Given the description of an element on the screen output the (x, y) to click on. 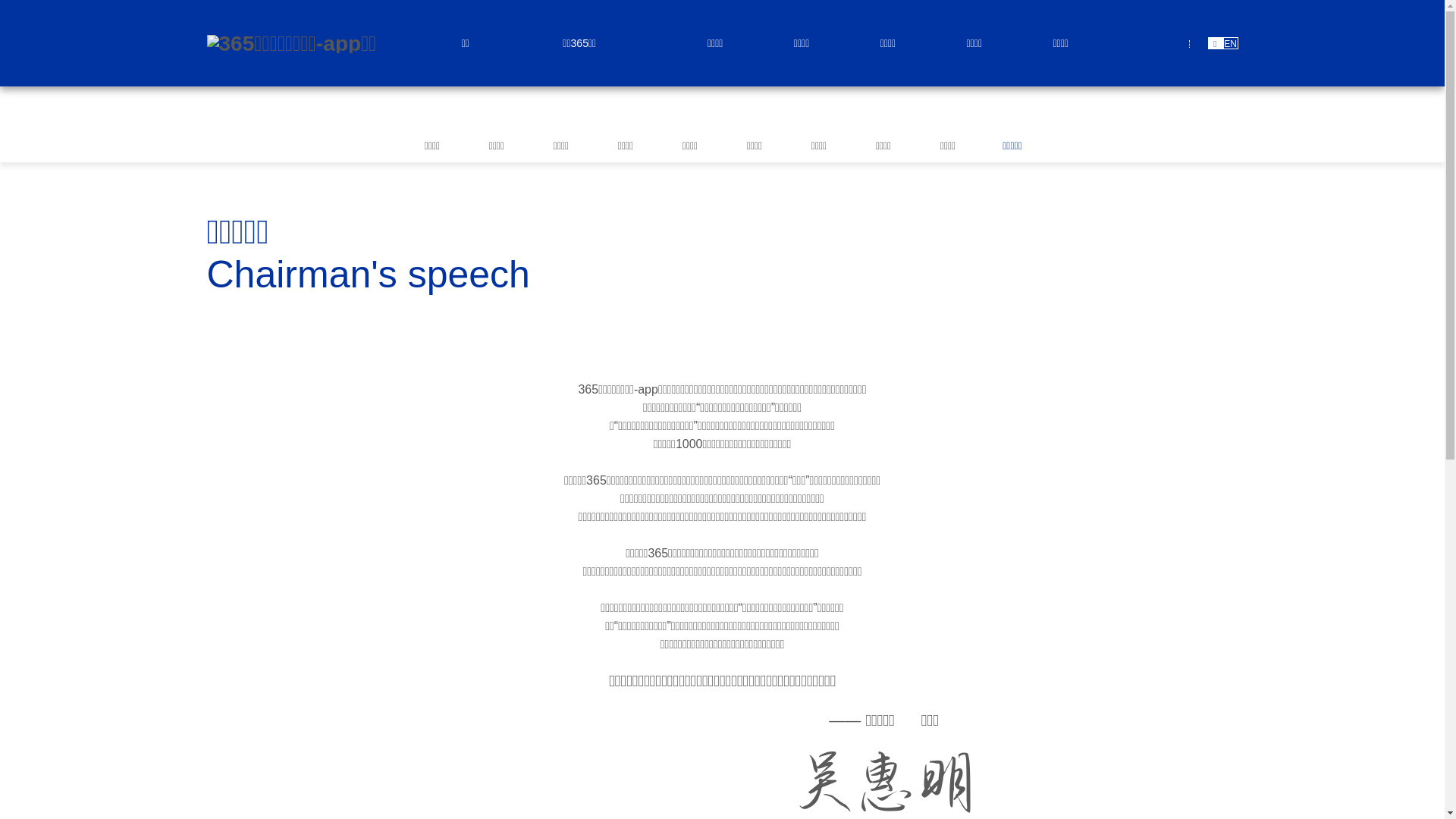
EN Element type: text (1229, 43)
